Given the description of an element on the screen output the (x, y) to click on. 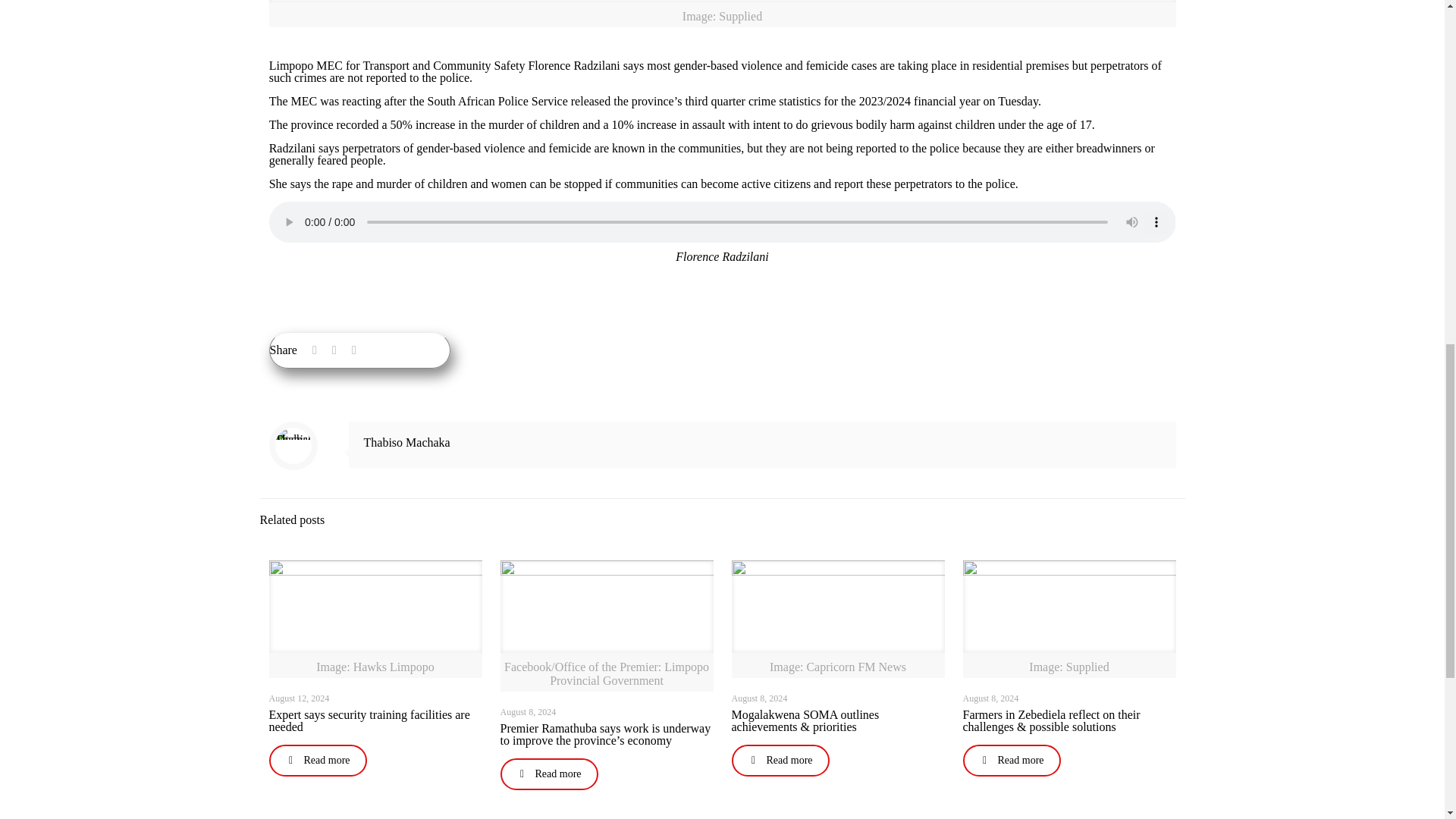
Read more (549, 774)
Read more (316, 760)
Expert says security training facilities are needed (367, 720)
Thabiso Machaka (406, 441)
